Given the description of an element on the screen output the (x, y) to click on. 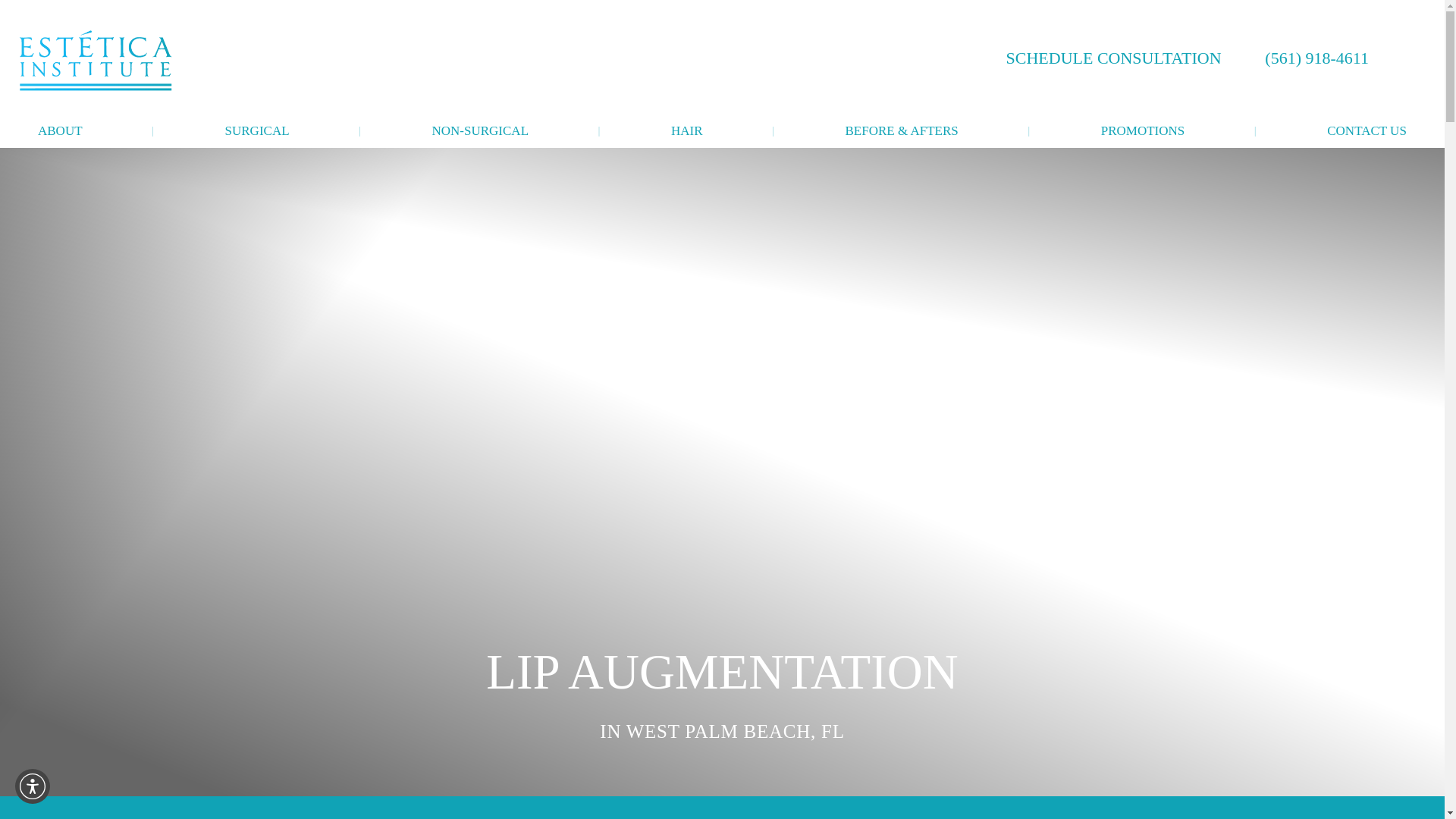
Arm Lift (414, 336)
Brow Lift (275, 407)
About Us (78, 219)
SURGICAL (257, 130)
Blepharoplasty (275, 313)
Otoplasty (275, 360)
Fat Transfer (275, 431)
Liposuction (414, 242)
Our Surgical Suites (78, 266)
Virtual Tour (268, 242)
ABOUT (59, 130)
Facial Surgery (275, 219)
Cancellation Policy (268, 290)
Lip Augmentation (275, 383)
Body Lift (414, 360)
